Given the description of an element on the screen output the (x, y) to click on. 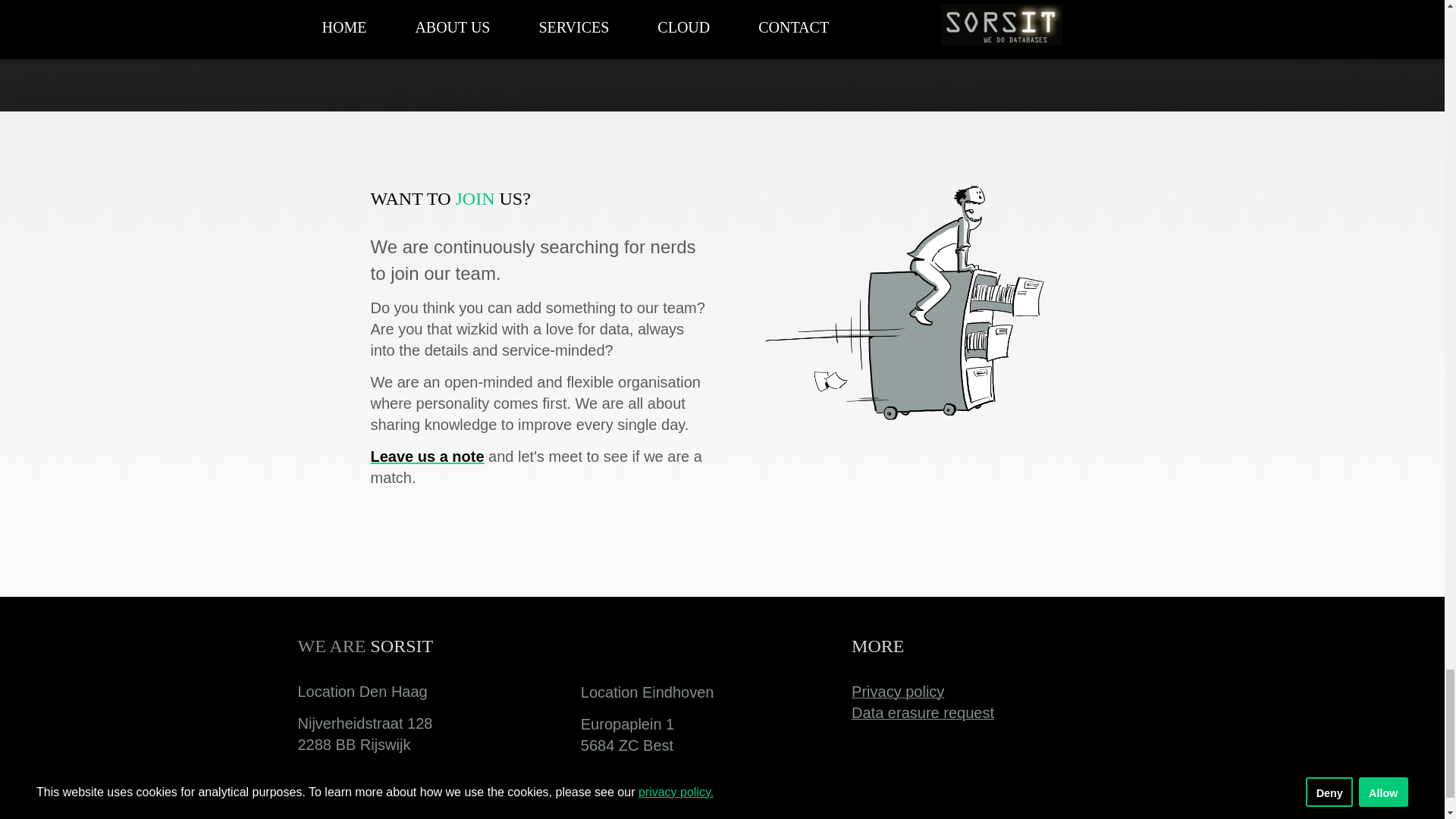
Leave us a note (426, 456)
Privacy policy (897, 691)
Data erasure request (922, 712)
